Given the description of an element on the screen output the (x, y) to click on. 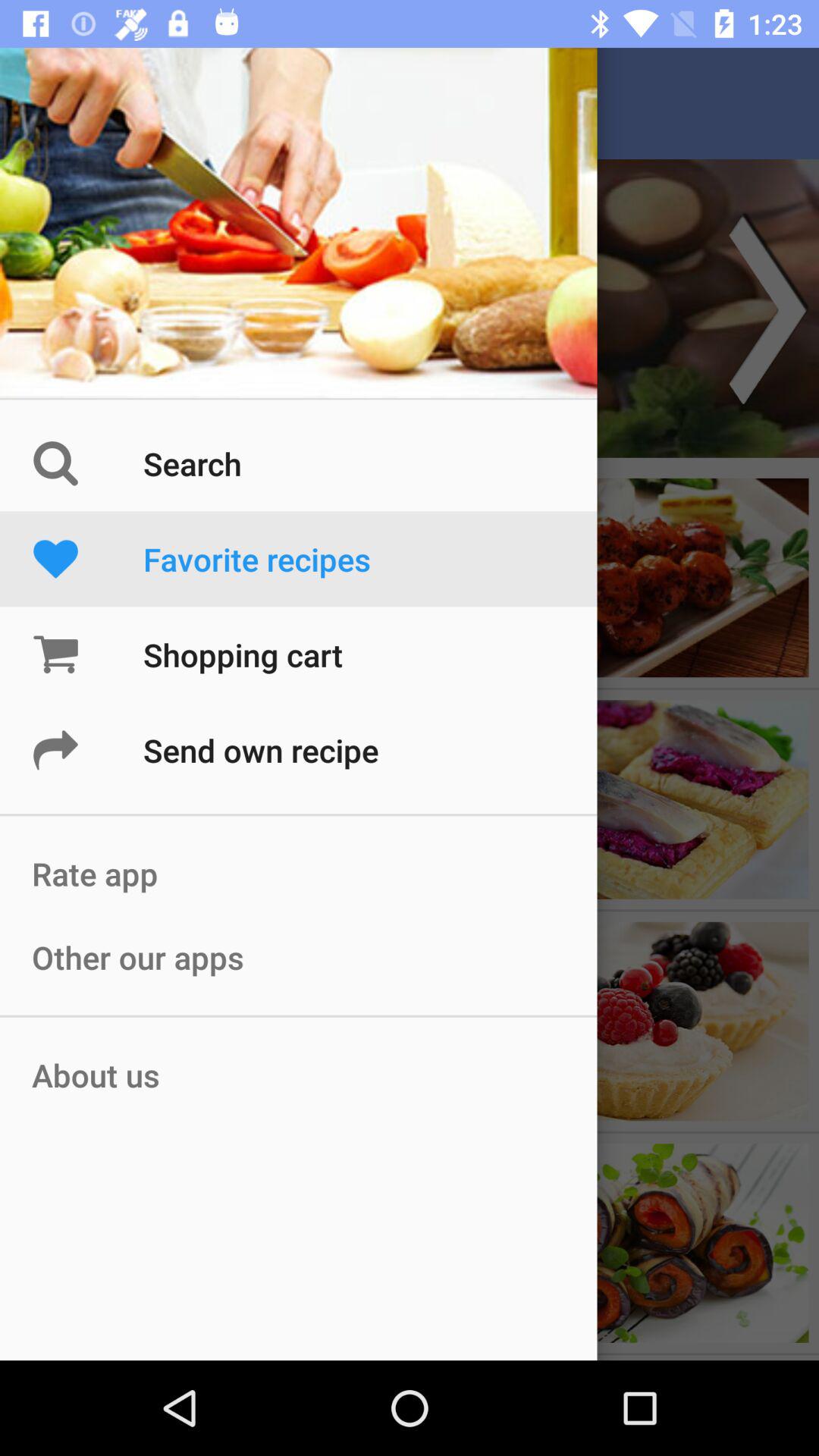
click on the cart icon beside shopping cart (87, 654)
click on the icon beside the text favorite recipes (87, 559)
